Given the description of an element on the screen output the (x, y) to click on. 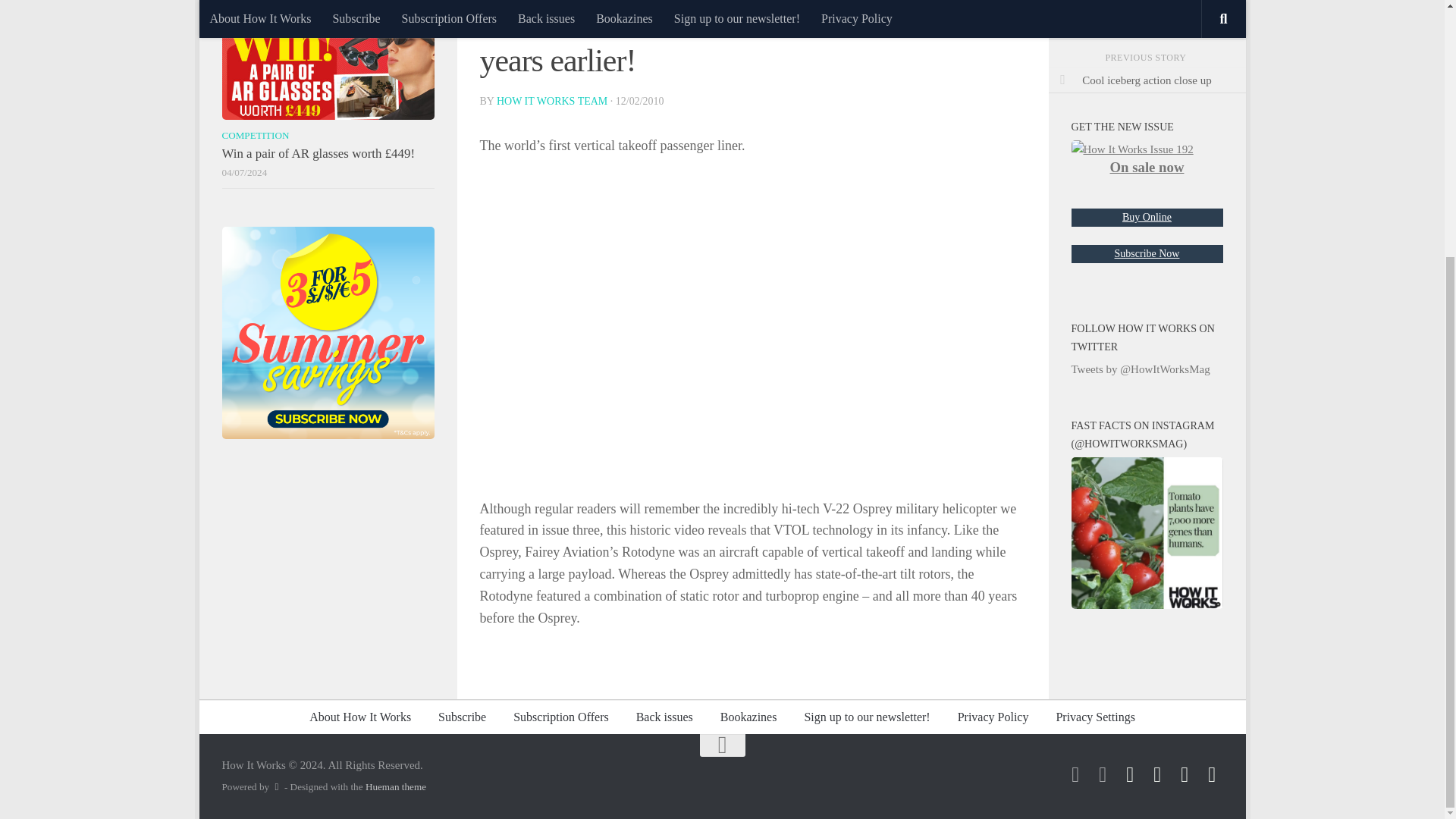
Hueman theme (395, 786)
Posts by How It Works Team (551, 101)
HOW IT WORKS TEAM (551, 101)
Follow us on Tiktok (1075, 774)
Powered by WordPress (275, 786)
